Given the description of an element on the screen output the (x, y) to click on. 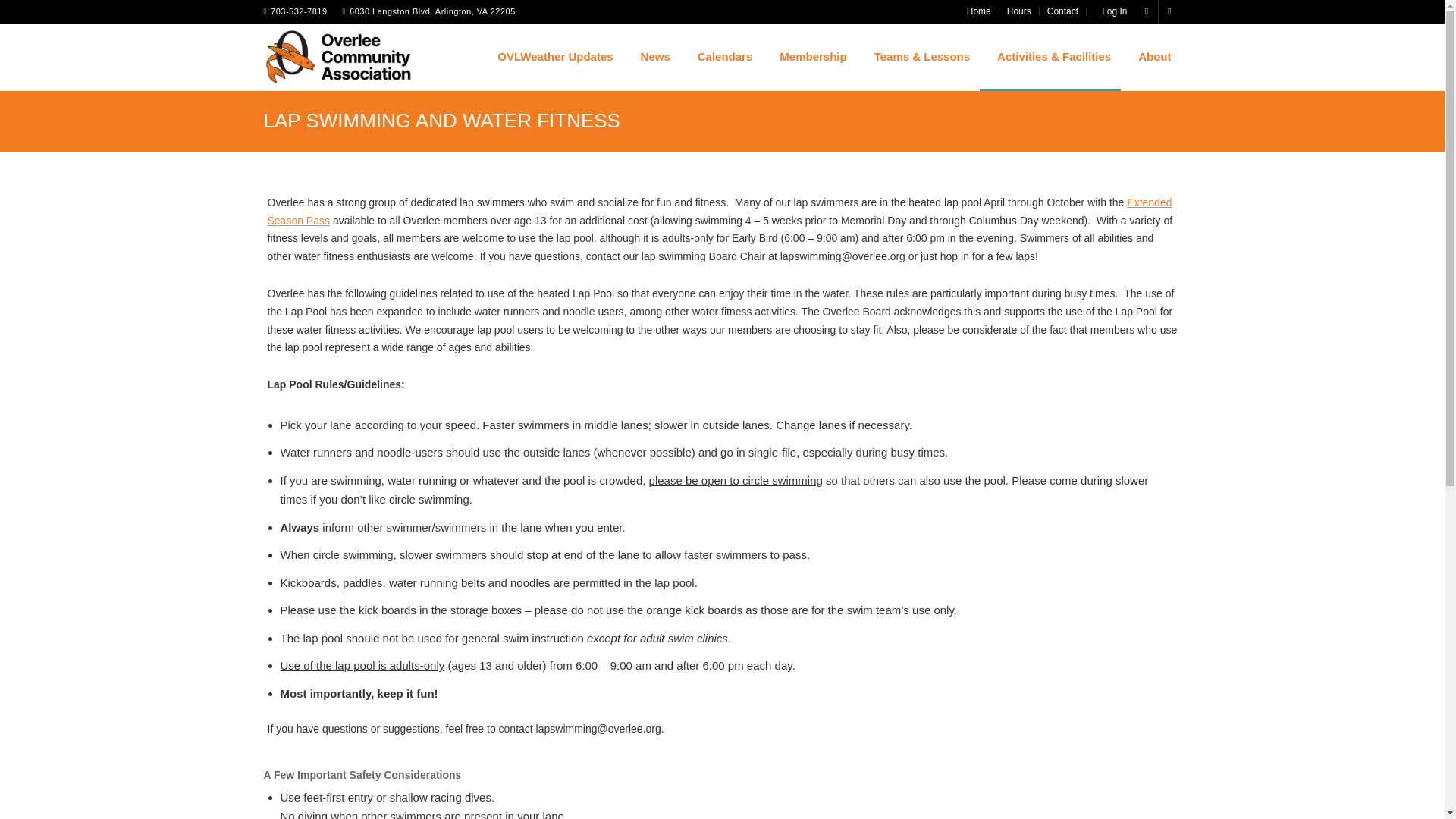
Hours (1018, 11)
Contact (1062, 11)
overlee-logo (338, 56)
X (1169, 11)
Facebook (1146, 11)
Log In (1110, 11)
OVLWeather Updates (551, 56)
Permanent Link: Lap Swimming and Water Fitness (441, 119)
Home (978, 11)
overlee-logo (338, 62)
Membership (808, 56)
Calendars (720, 56)
